Given the description of an element on the screen output the (x, y) to click on. 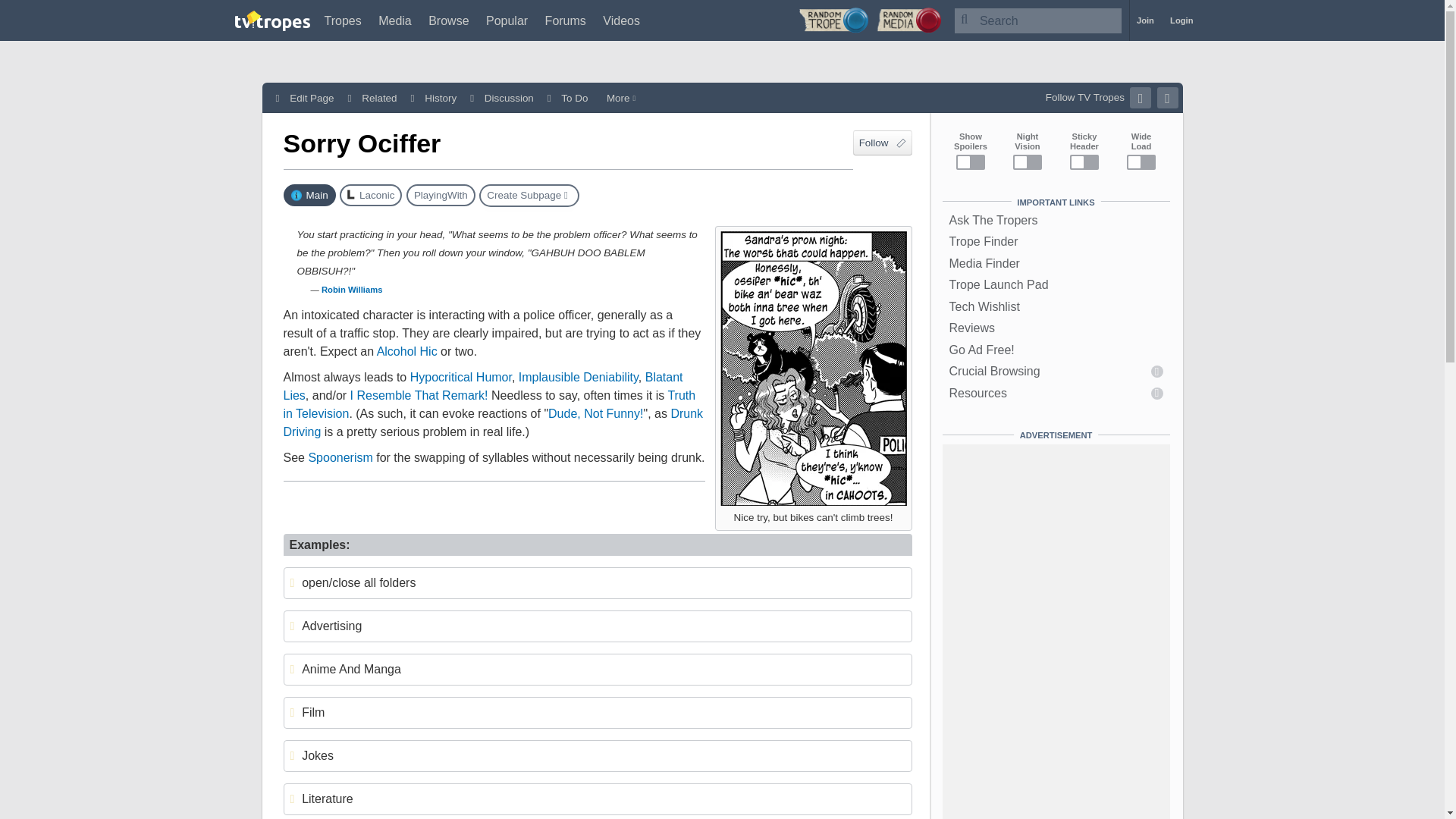
The Laconic page (370, 195)
The Main page (309, 195)
Popular (506, 20)
The PlayingWith page (441, 195)
Videos (621, 20)
Tropes (342, 20)
Forums (565, 20)
Login (1181, 20)
Browse (448, 20)
Media (395, 20)
